Given the description of an element on the screen output the (x, y) to click on. 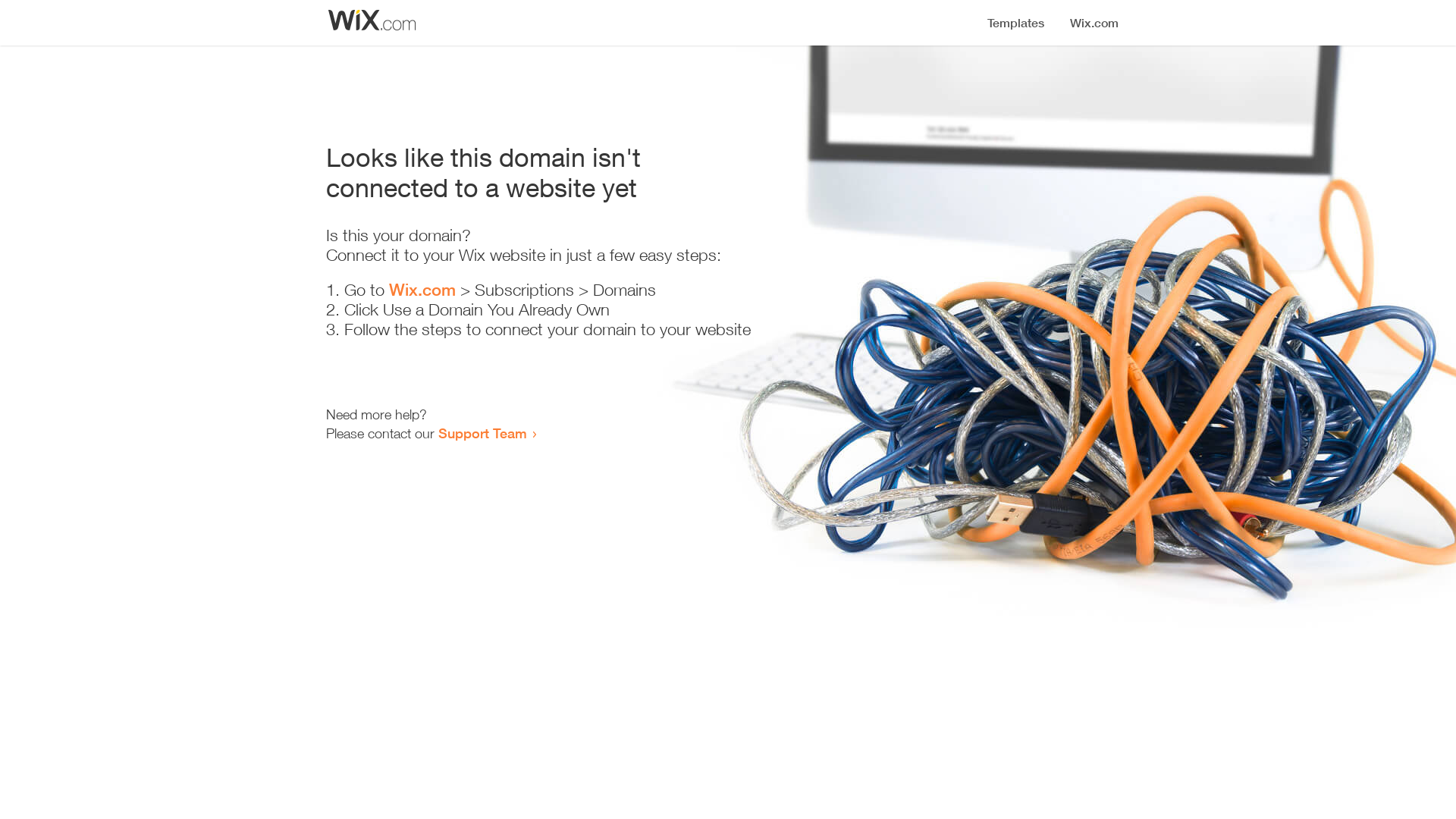
Support Team Element type: text (482, 432)
Wix.com Element type: text (422, 289)
